Given the description of an element on the screen output the (x, y) to click on. 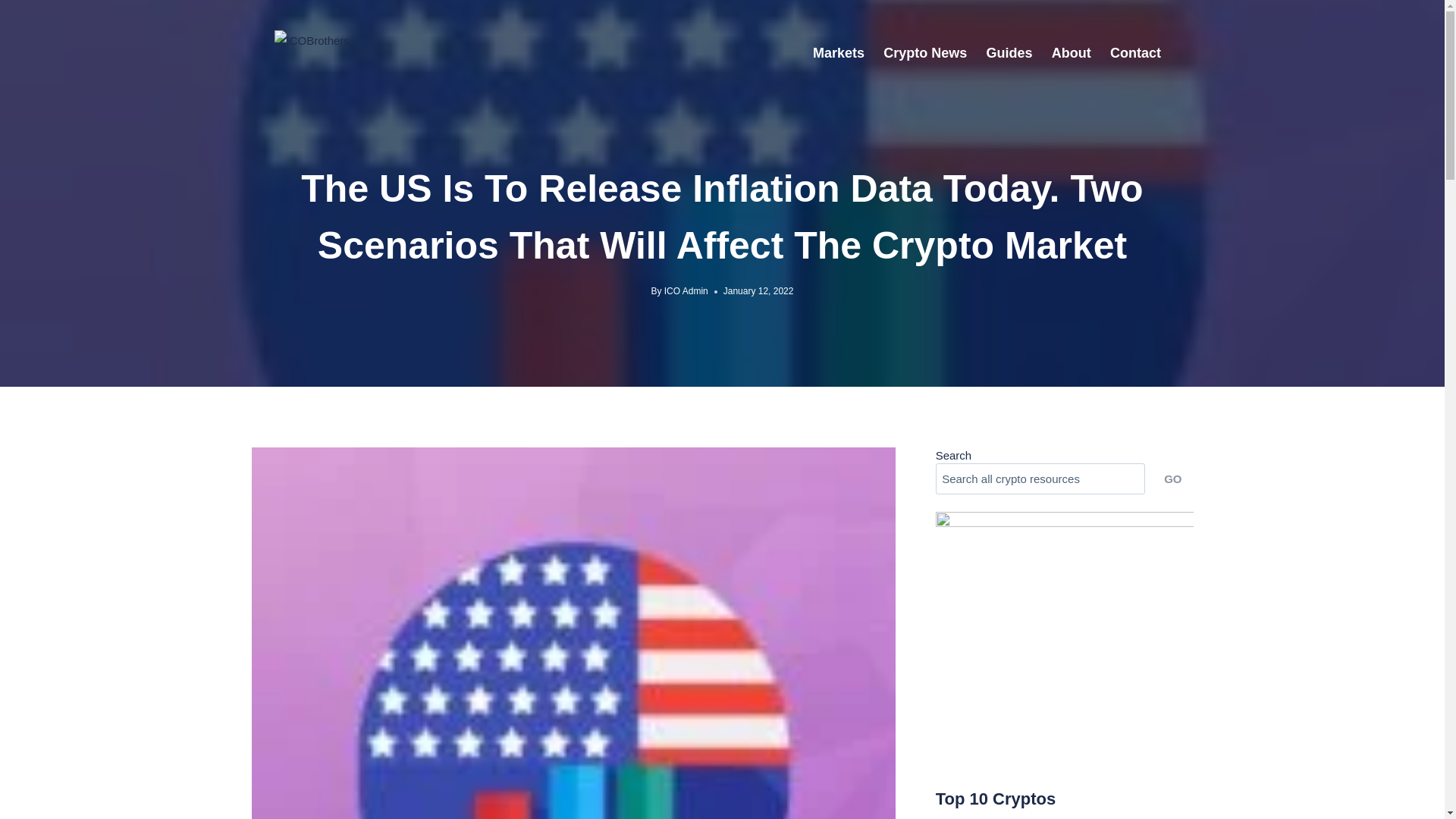
ICO Admin (685, 290)
About (1071, 52)
Contact (1135, 52)
GO (1172, 478)
Guides (1009, 52)
Crypto News (925, 52)
Markets (838, 52)
